Given the description of an element on the screen output the (x, y) to click on. 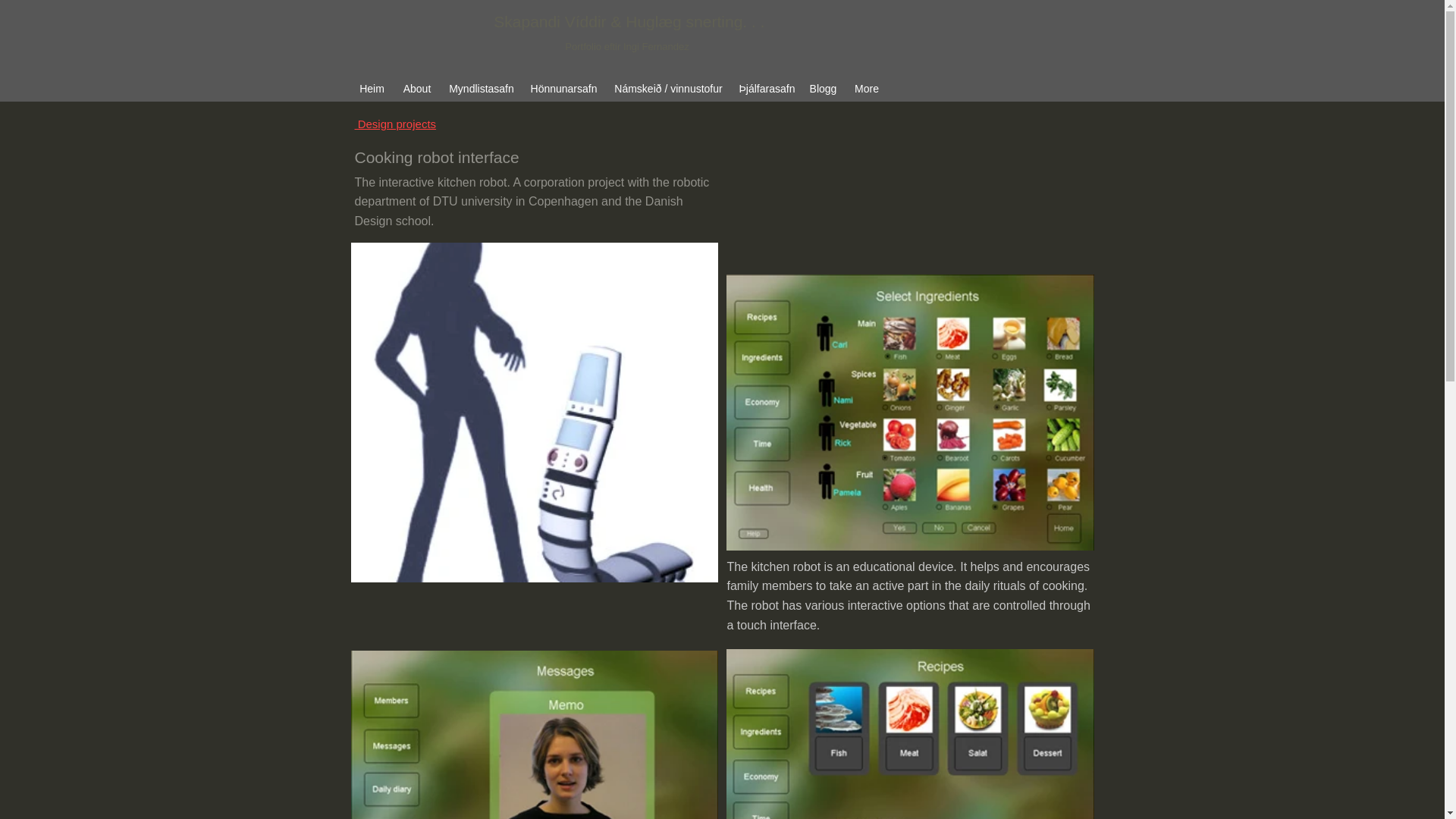
About (417, 88)
 Design projects (395, 123)
Myndlistasafn (481, 88)
Blogg (822, 88)
Heim (371, 88)
